Given the description of an element on the screen output the (x, y) to click on. 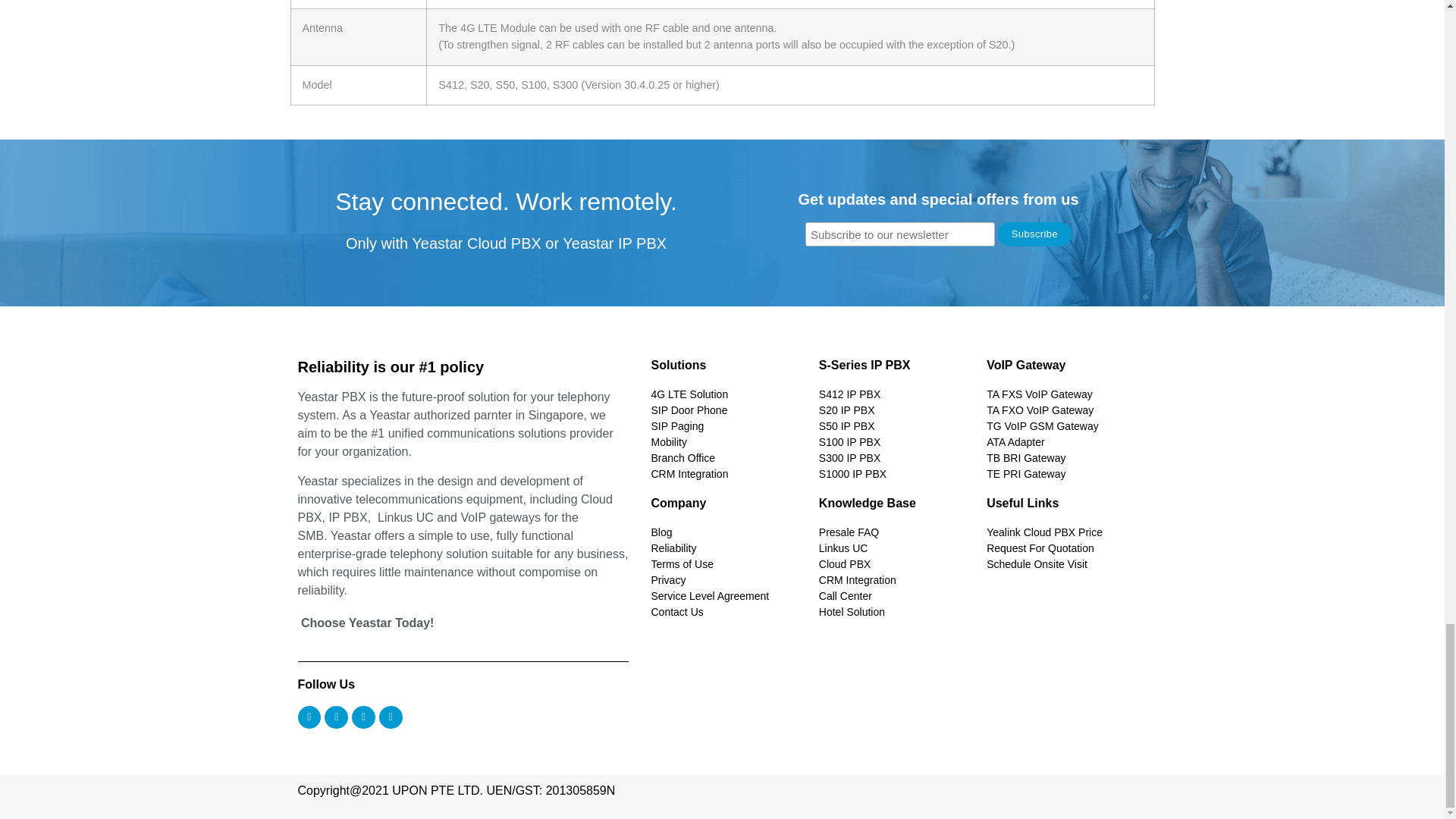
Subscribe (1034, 233)
SIP Door Phone (726, 410)
S100 IP PBX (894, 442)
CRM Integration (726, 474)
S412 IP PBX (894, 394)
SIP Paging (726, 426)
Mobility (726, 442)
Subscribe (1034, 233)
S20 IP PBX (894, 410)
4G LTE Solution (726, 394)
Branch Office (726, 458)
S50 IP PBX (894, 426)
